Given the description of an element on the screen output the (x, y) to click on. 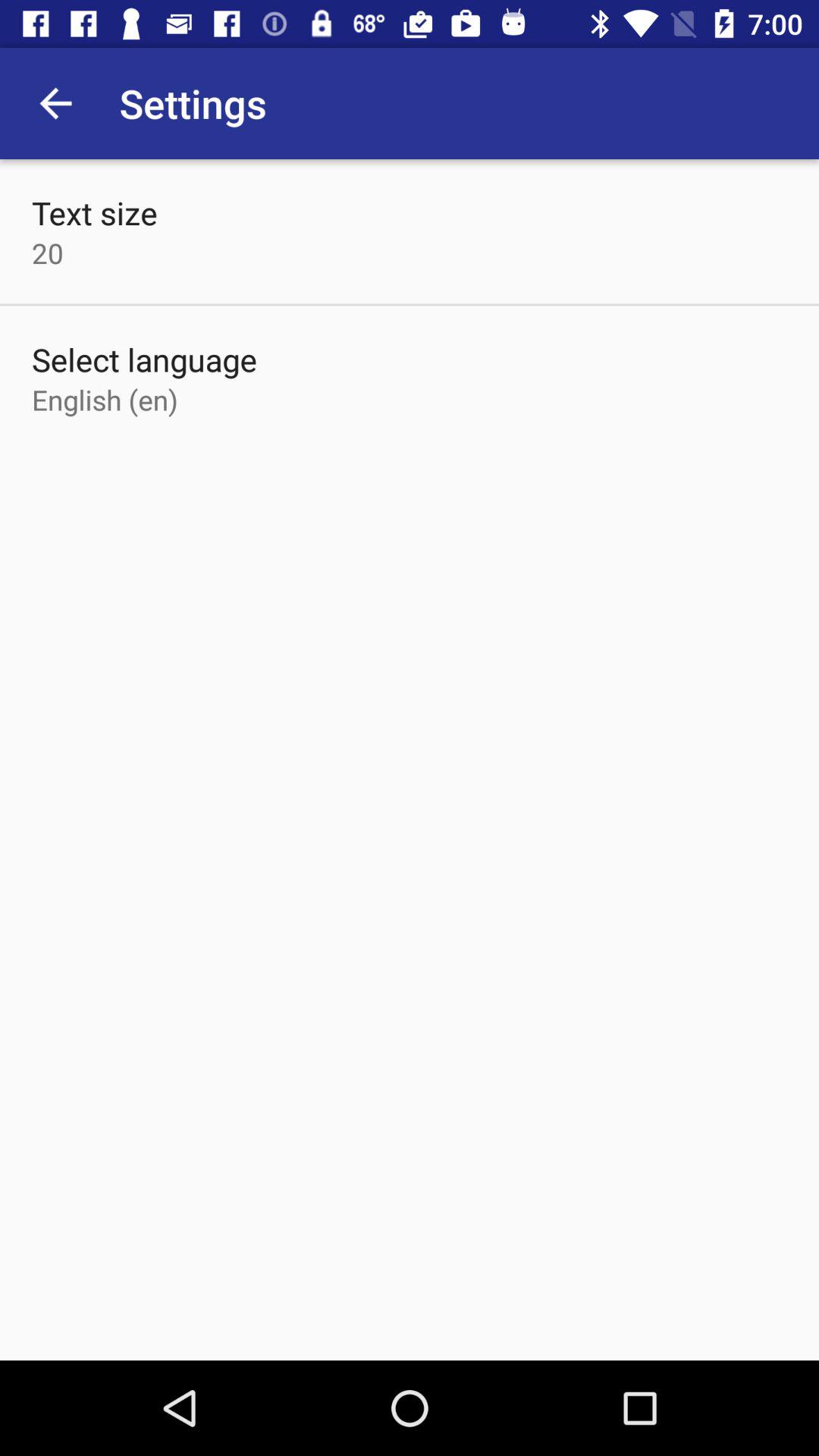
click the item above select language (47, 252)
